Given the description of an element on the screen output the (x, y) to click on. 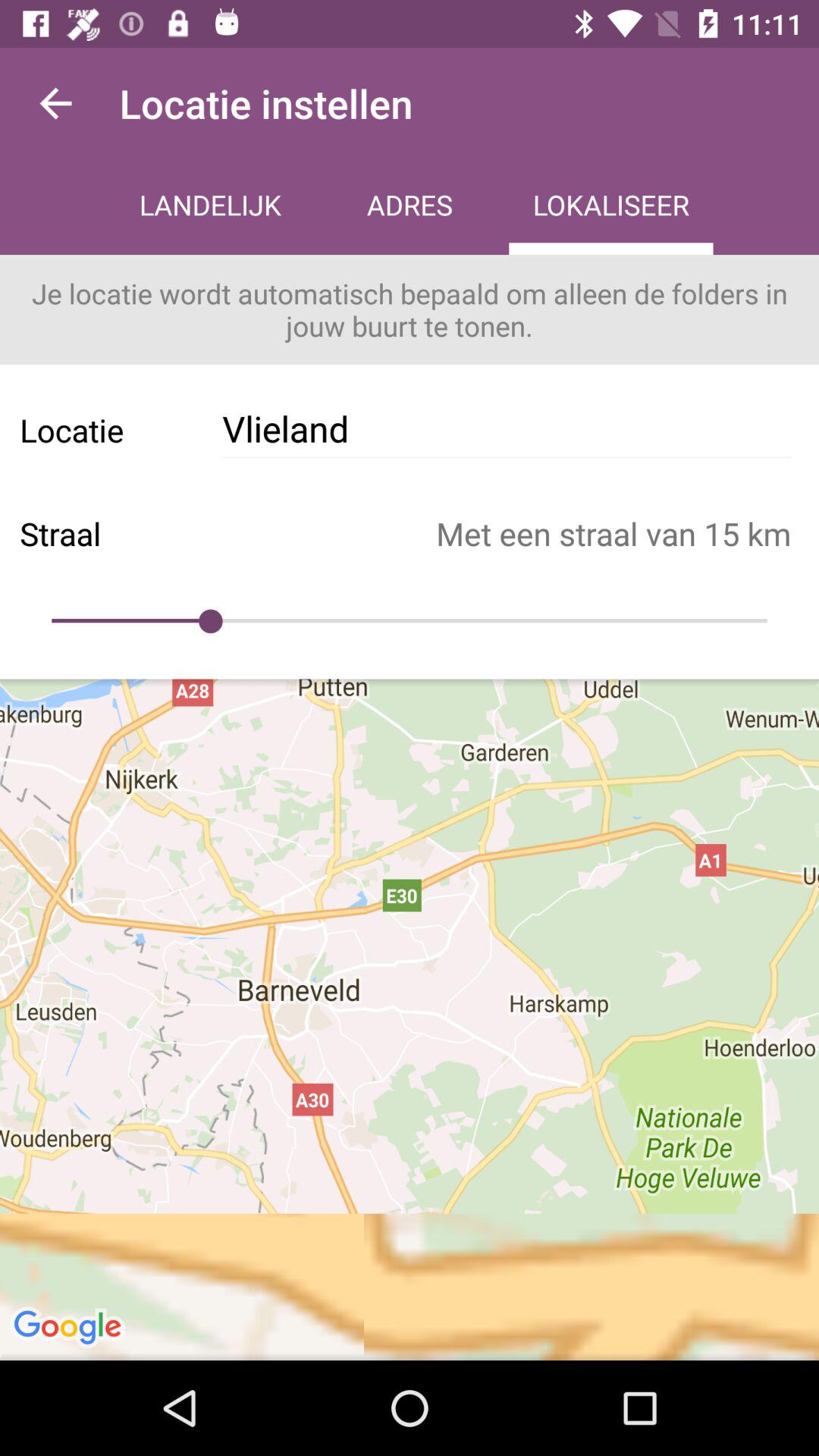
jump until landelijk (209, 206)
